Given the description of an element on the screen output the (x, y) to click on. 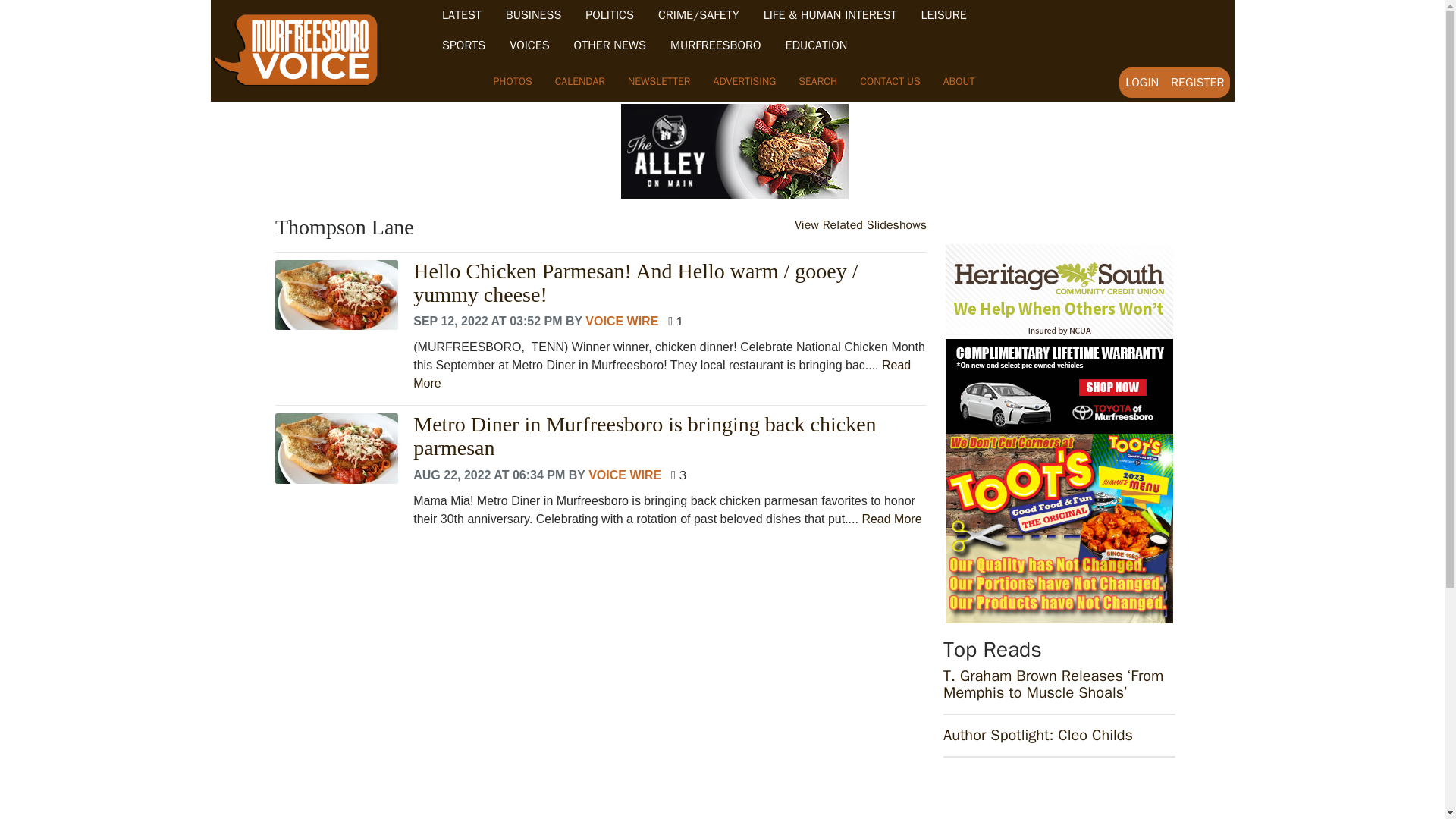
EDUCATION (815, 45)
CALENDAR (579, 81)
VOICES (528, 45)
LOGIN (1141, 82)
MURFREESBORO (715, 45)
NEWSLETTER (658, 81)
PHOTOS (512, 81)
POLITICS (609, 14)
ADVERTISING (744, 81)
LATEST (461, 14)
LEISURE (943, 14)
BUSINESS (533, 14)
SPORTS (463, 45)
ABOUT (959, 81)
REGISTER (1197, 82)
